Given the description of an element on the screen output the (x, y) to click on. 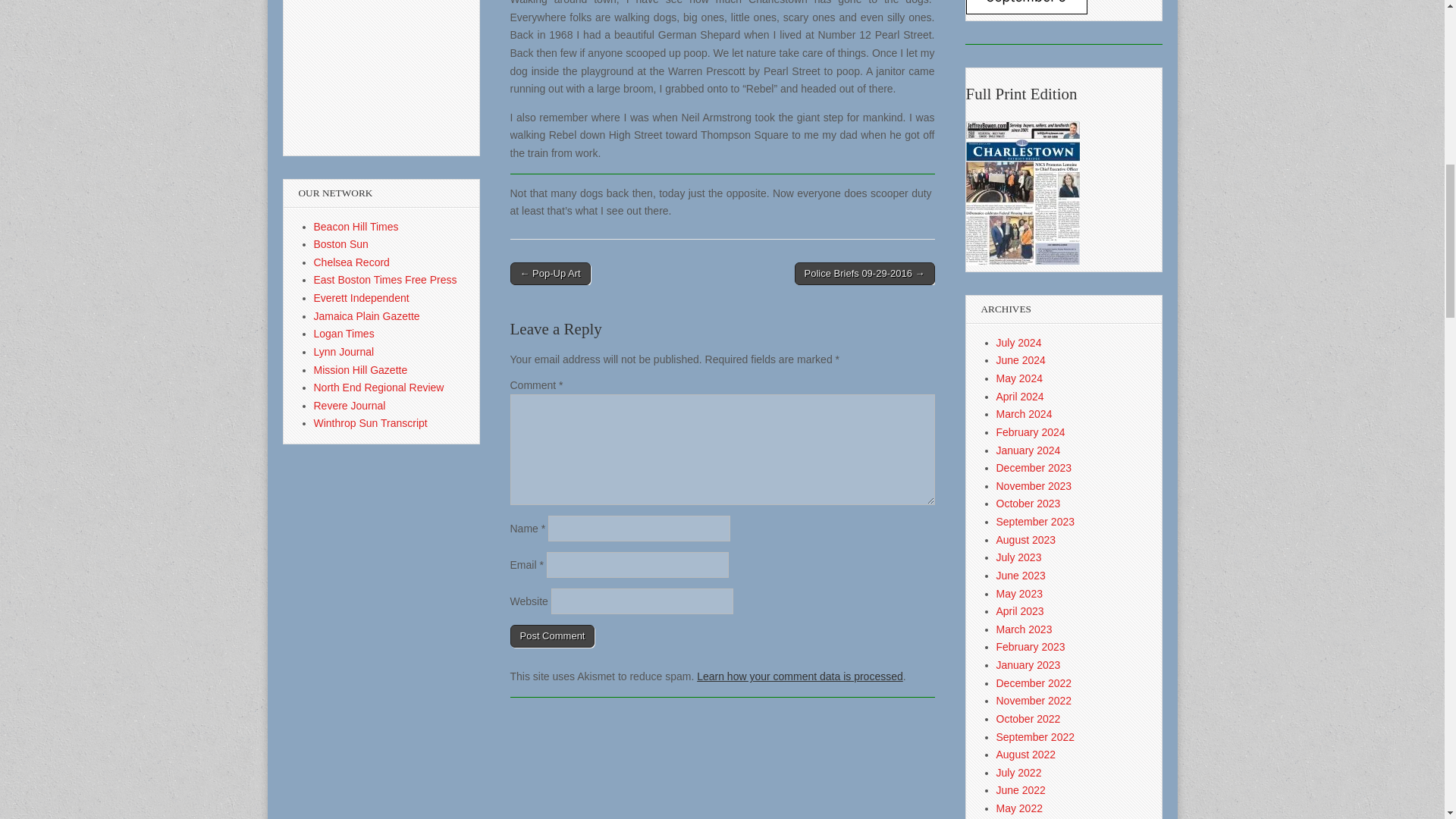
Beacon Hill Times (356, 226)
Logan Times (344, 333)
Post Comment (551, 635)
Chelsea Record (352, 262)
Winthrop Sun Transcript (371, 422)
Revere Journal (349, 405)
Lynn Journal (344, 351)
3rd party ad content (343, 77)
East Boston Times Free Press (385, 279)
Learn how your comment data is processed (799, 676)
Boston Sun (341, 244)
Everett Independent (361, 297)
North End Regional Review (379, 387)
Post Comment (551, 635)
Jamaica Plain Gazette (367, 316)
